Given the description of an element on the screen output the (x, y) to click on. 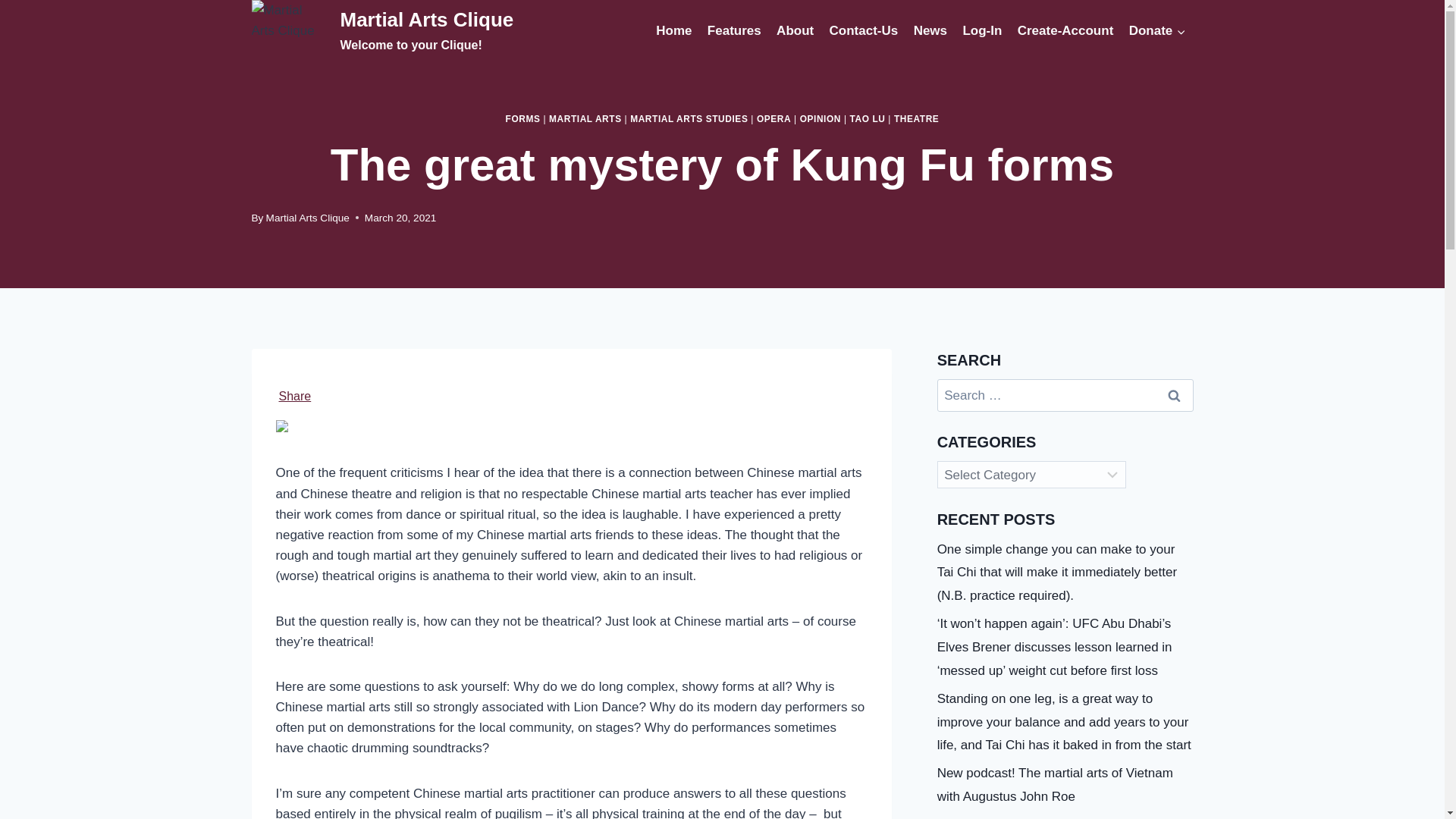
TAO LU (867, 118)
OPINION (820, 118)
Contact-Us (863, 31)
News (930, 31)
Search (1174, 395)
Create-Account (1065, 31)
Search (1174, 395)
Features (734, 31)
Share (295, 396)
